Given the description of an element on the screen output the (x, y) to click on. 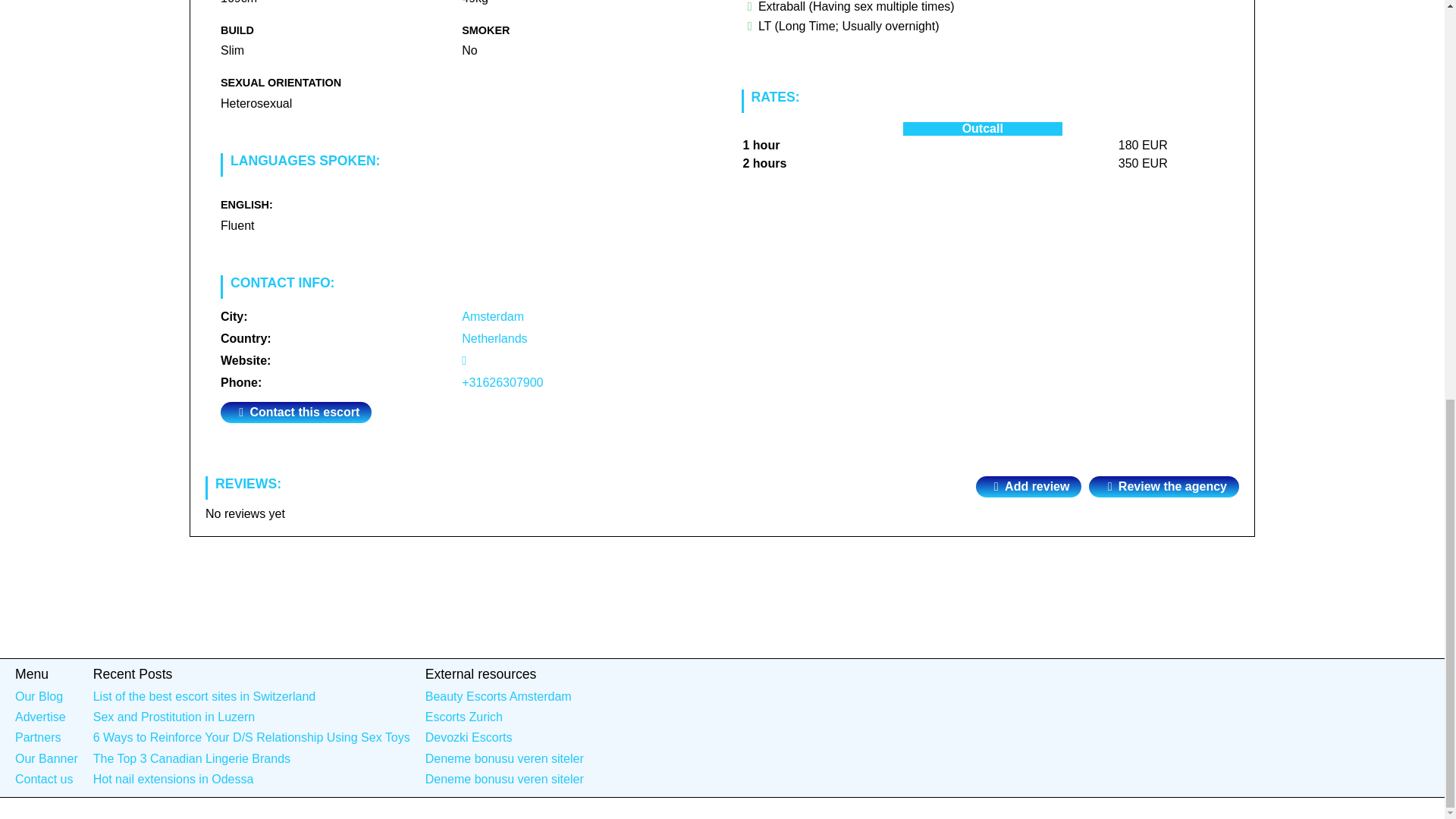
Amsterdam (492, 316)
Netherlands (494, 338)
Amsterdam (492, 316)
Netherlands (494, 338)
